Given the description of an element on the screen output the (x, y) to click on. 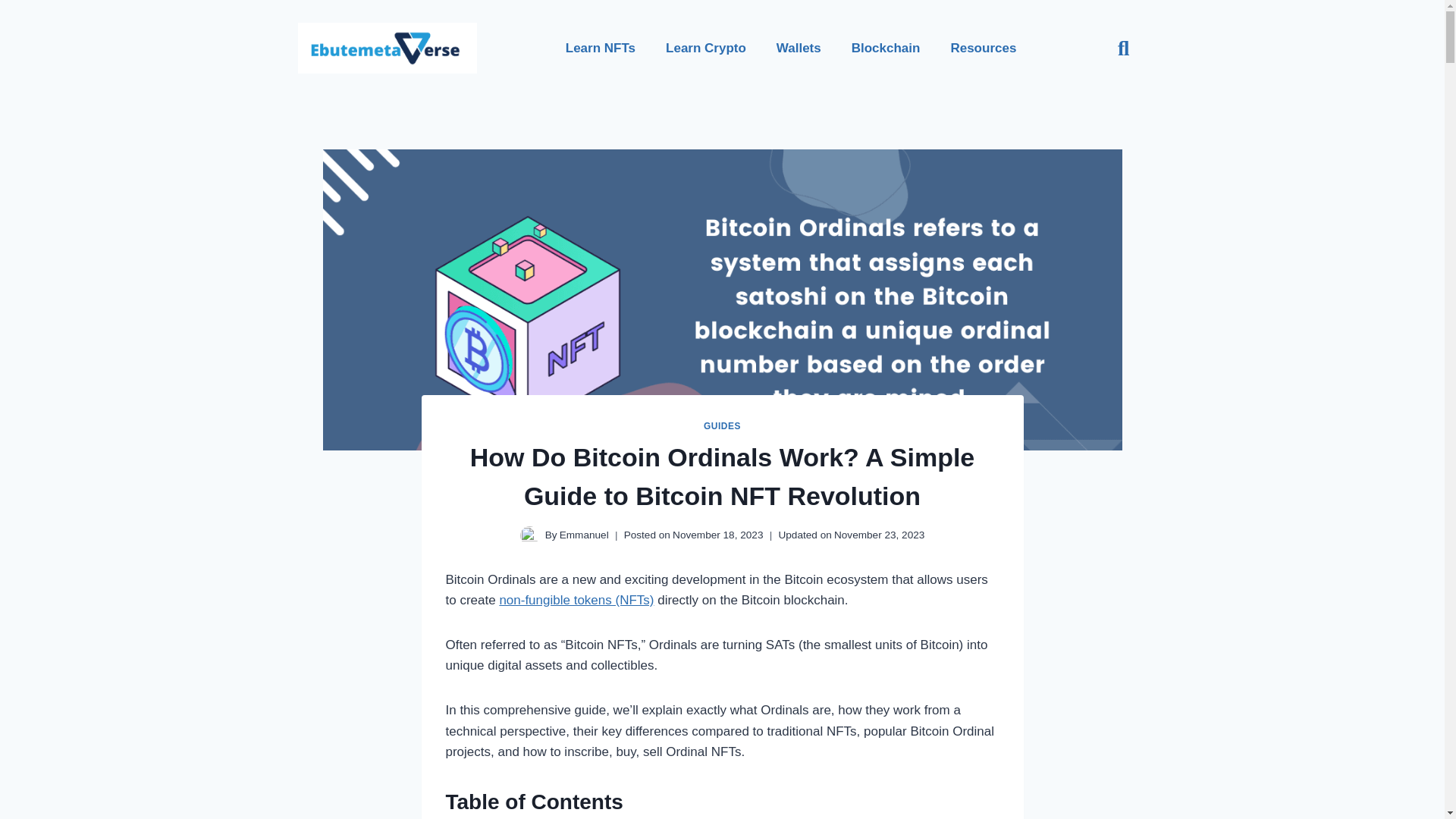
Wallets (798, 48)
Emmanuel (583, 534)
GUIDES (722, 425)
Learn Crypto (705, 48)
Learn NFTs (600, 48)
Blockchain (885, 48)
Resources (982, 48)
